Given the description of an element on the screen output the (x, y) to click on. 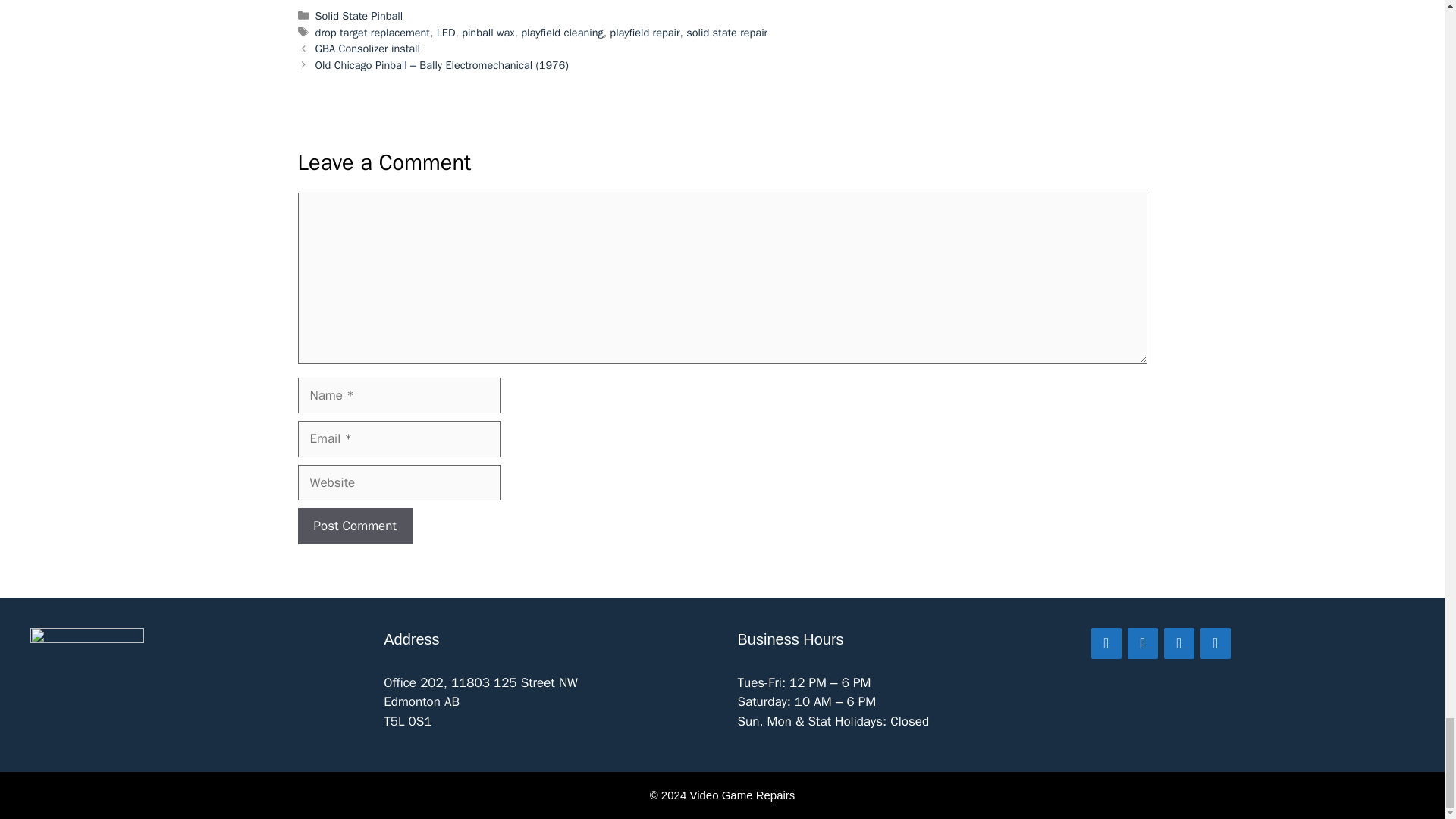
Instagram (1178, 643)
Phone (1214, 643)
Contact (1105, 643)
Post Comment (354, 525)
Facebook (1141, 643)
